Given the description of an element on the screen output the (x, y) to click on. 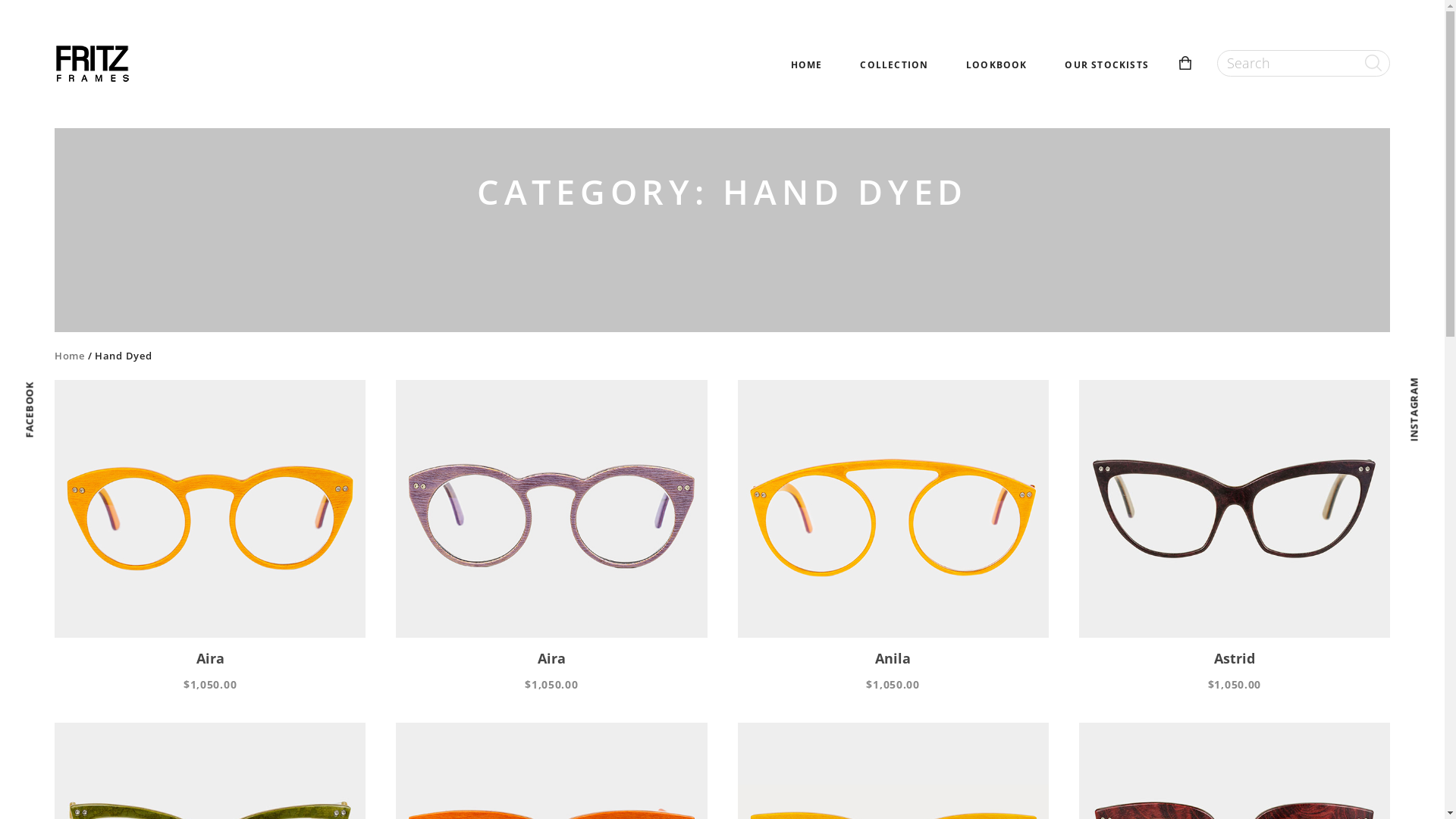
Anila
$1,050.00 Element type: text (892, 535)
Home Element type: text (69, 355)
Search Element type: text (40, 72)
Astrid
$1,050.00 Element type: text (1234, 535)
FACEBOOK Element type: text (50, 388)
COLLECTION Element type: text (893, 64)
OUR STOCKISTS Element type: text (1106, 64)
Aira
$1,050.00 Element type: text (550, 535)
LOOKBOOK Element type: text (996, 64)
Aira
$1,050.00 Element type: text (209, 535)
HOME Element type: text (806, 64)
